Given the description of an element on the screen output the (x, y) to click on. 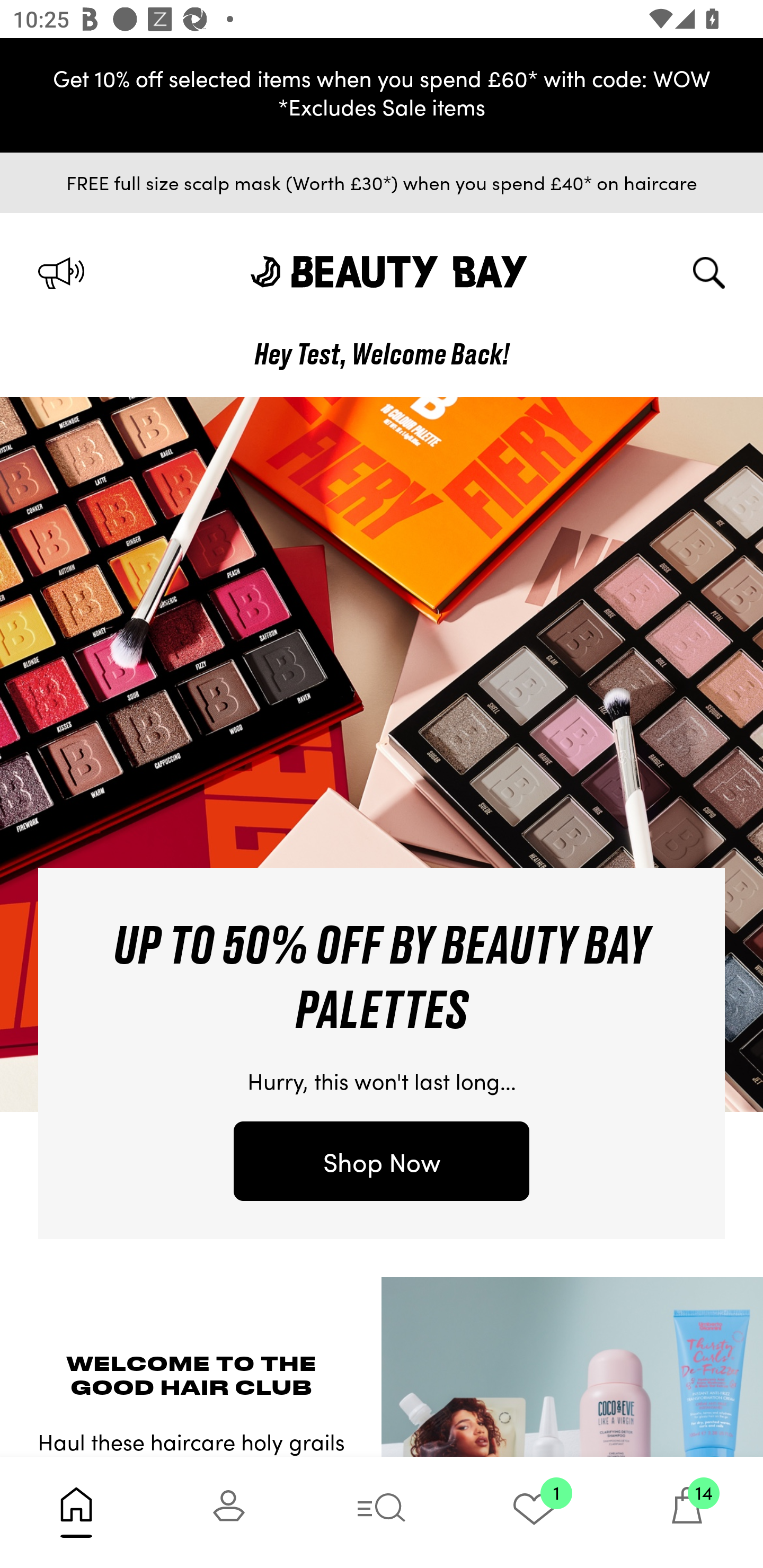
1 (533, 1512)
14 (686, 1512)
